Given the description of an element on the screen output the (x, y) to click on. 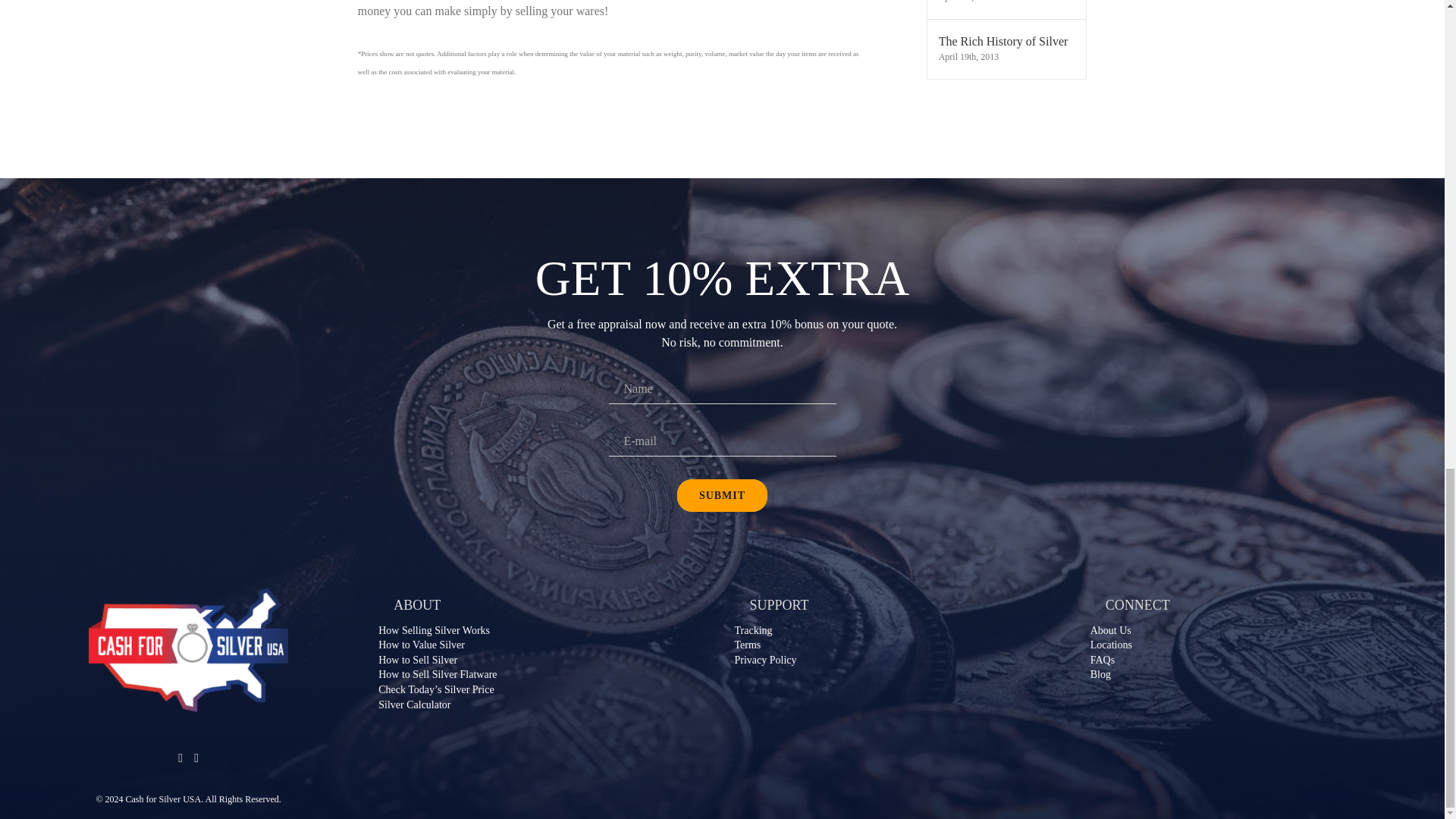
The Rich History of Silver (1007, 41)
